Given the description of an element on the screen output the (x, y) to click on. 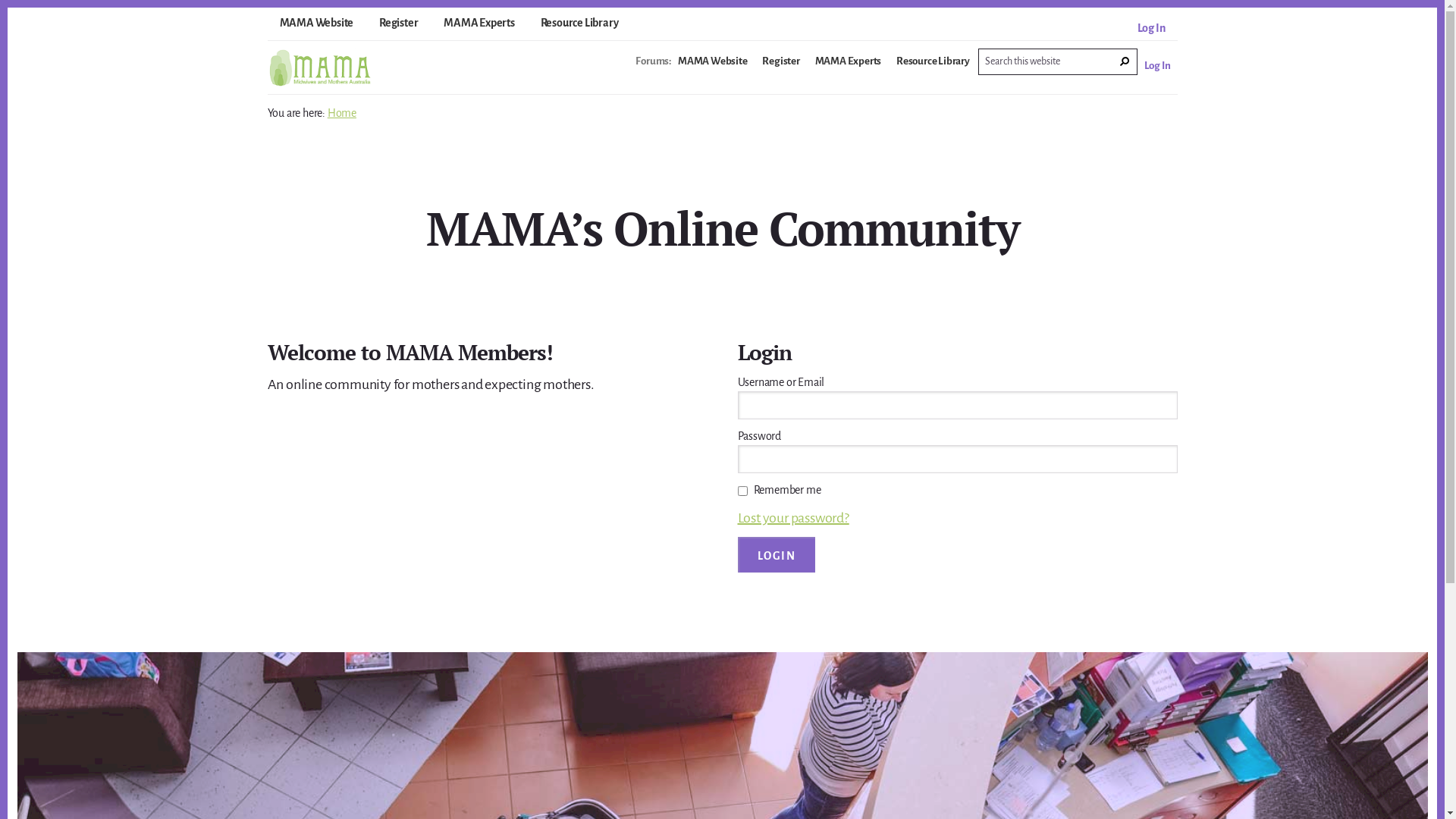
MAMA Experts Element type: text (848, 67)
SEARCH Element type: text (1124, 61)
Resource Library Element type: text (579, 25)
Home Element type: text (341, 112)
MAMA Website Element type: text (712, 67)
Lost your password? Element type: text (792, 517)
Resource Library Element type: text (932, 67)
Log In Element type: text (1157, 71)
MAMA Website Element type: text (316, 25)
MAMA Experts Element type: text (478, 25)
Log In Element type: text (1151, 30)
Register Element type: text (780, 67)
Register Element type: text (398, 25)
Skip to content Element type: text (7, 7)
Login Element type: text (776, 554)
